Given the description of an element on the screen output the (x, y) to click on. 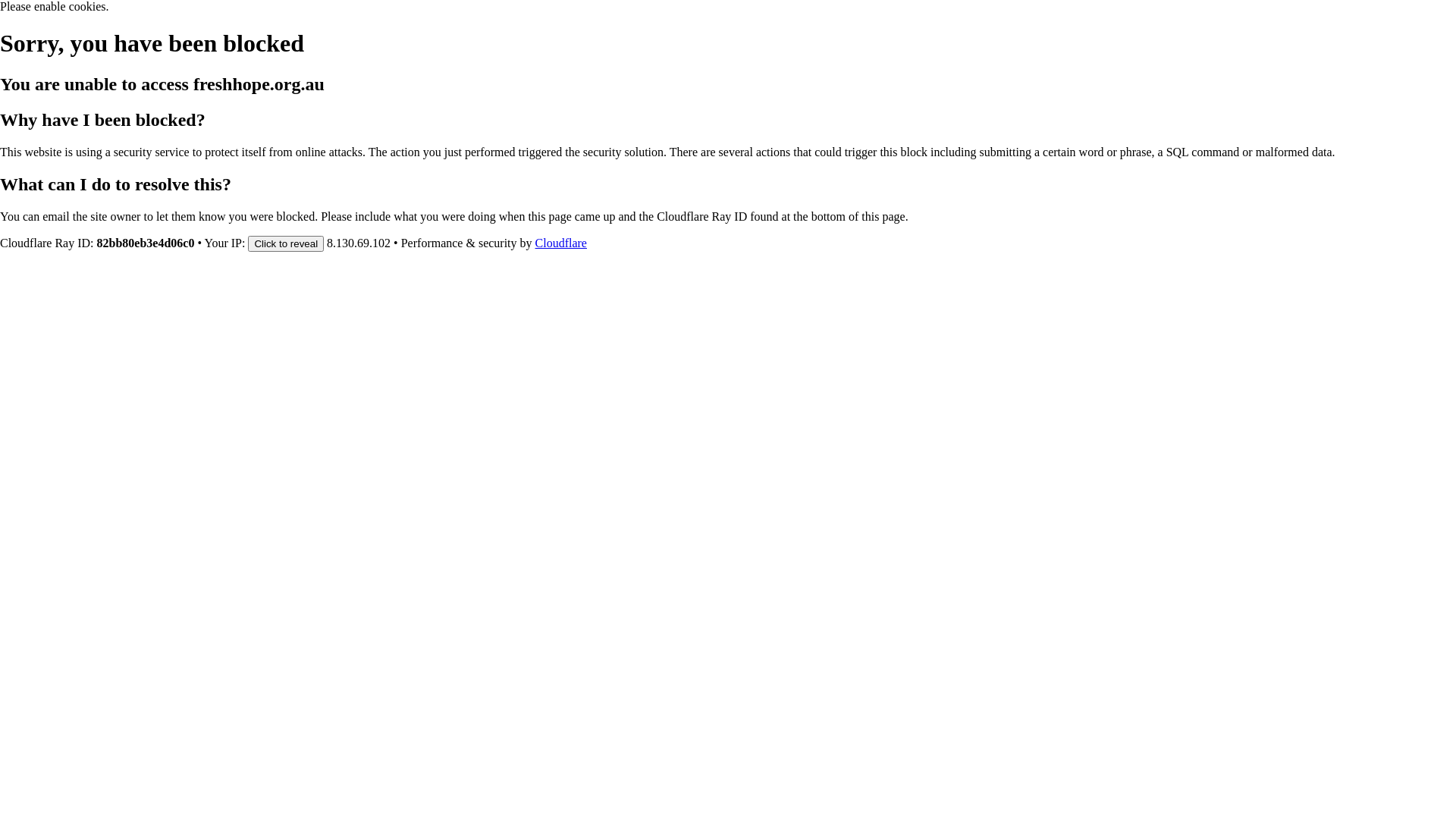
Click to reveal Element type: text (285, 243)
Cloudflare Element type: text (560, 242)
